Given the description of an element on the screen output the (x, y) to click on. 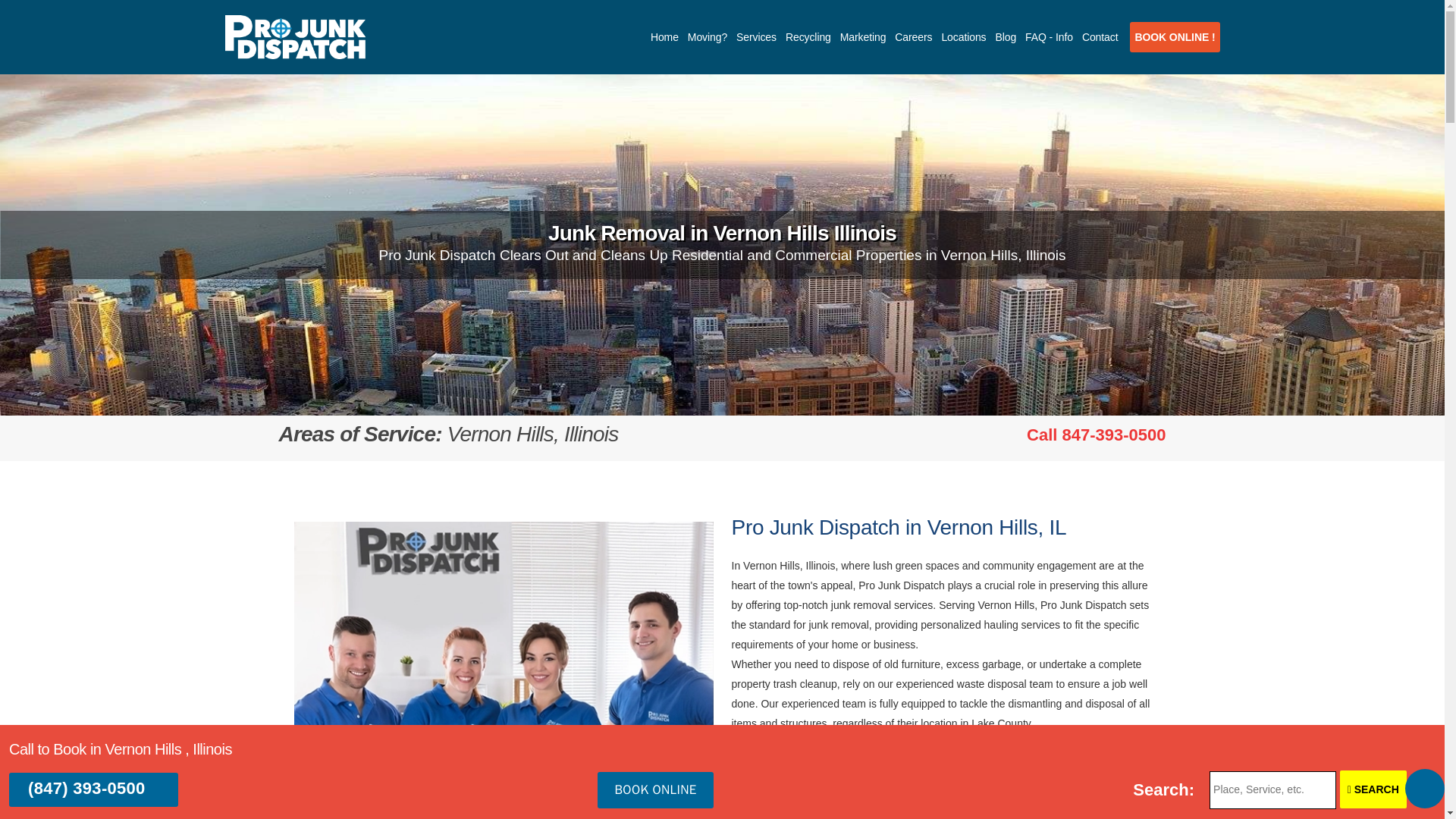
Pro Junk Dispatch team Posing in Office (503, 652)
Recycling (807, 37)
Contact (1099, 37)
Moving? (959, 800)
Call 847-393-0500 (707, 37)
BOOK ONLINE ! (1096, 434)
Locations (1174, 37)
Home (963, 37)
FAQ - Info (664, 37)
